Given the description of an element on the screen output the (x, y) to click on. 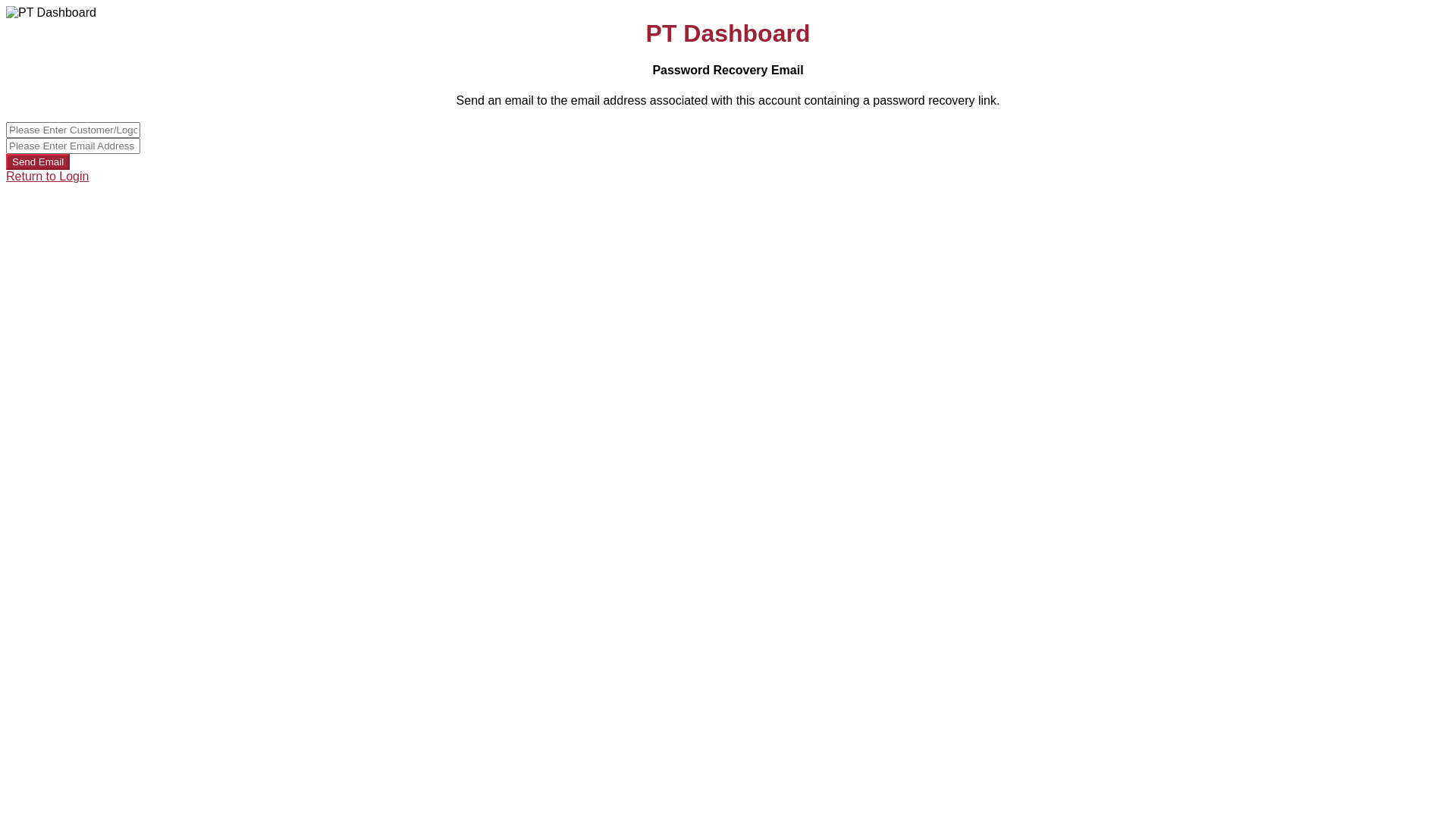
Send Email Element type: text (37, 161)
Return to Login Element type: text (47, 175)
